Given the description of an element on the screen output the (x, y) to click on. 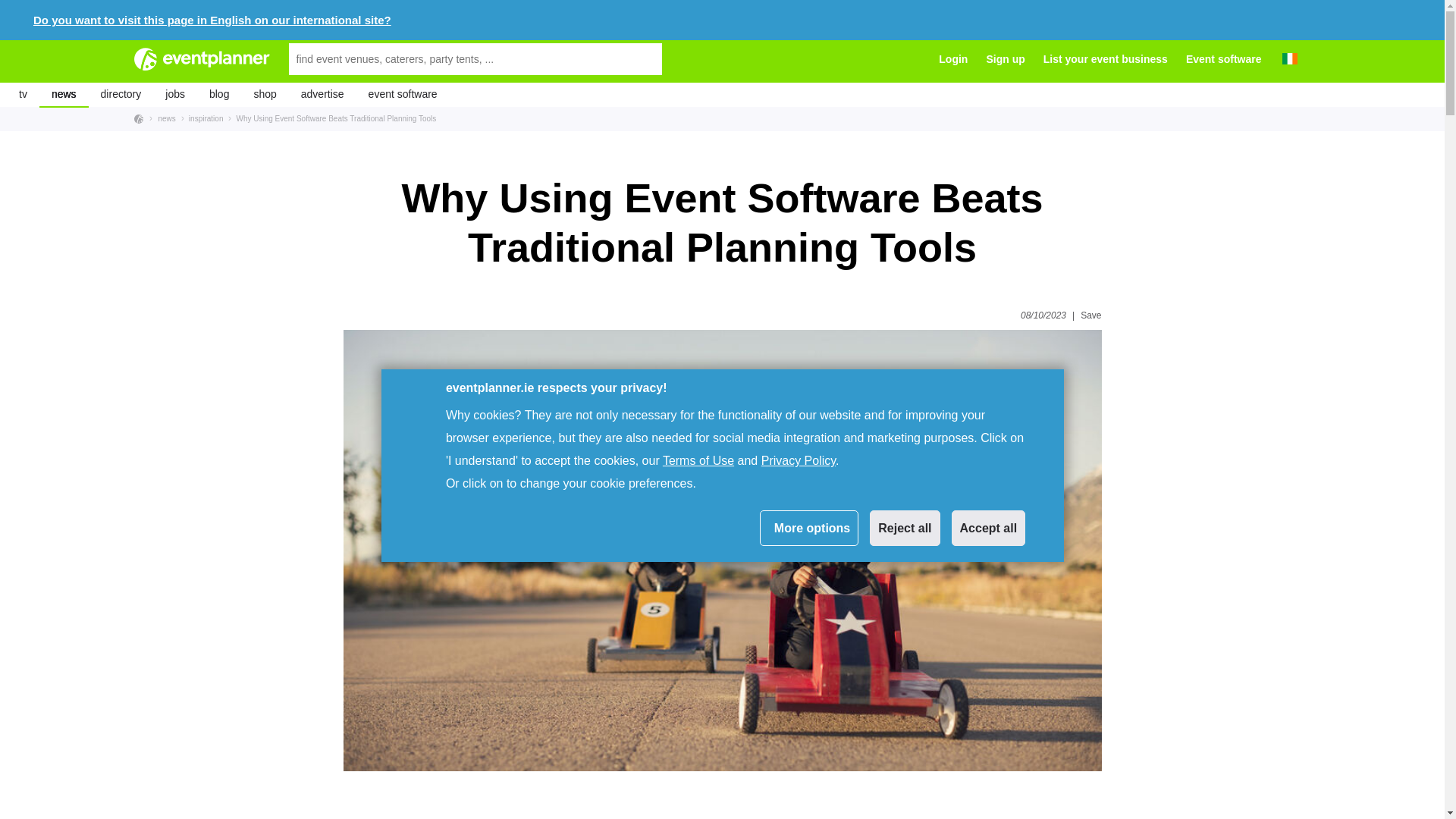
tv (23, 94)
Login (953, 59)
Sign up (1005, 59)
news (63, 94)
shop (264, 94)
directory (121, 94)
advertise (322, 94)
Why Using Event Software Beats Traditional Planning Tools (331, 118)
List your event business (1105, 59)
blog (218, 94)
jobs (174, 94)
Event software (1224, 59)
